Given the description of an element on the screen output the (x, y) to click on. 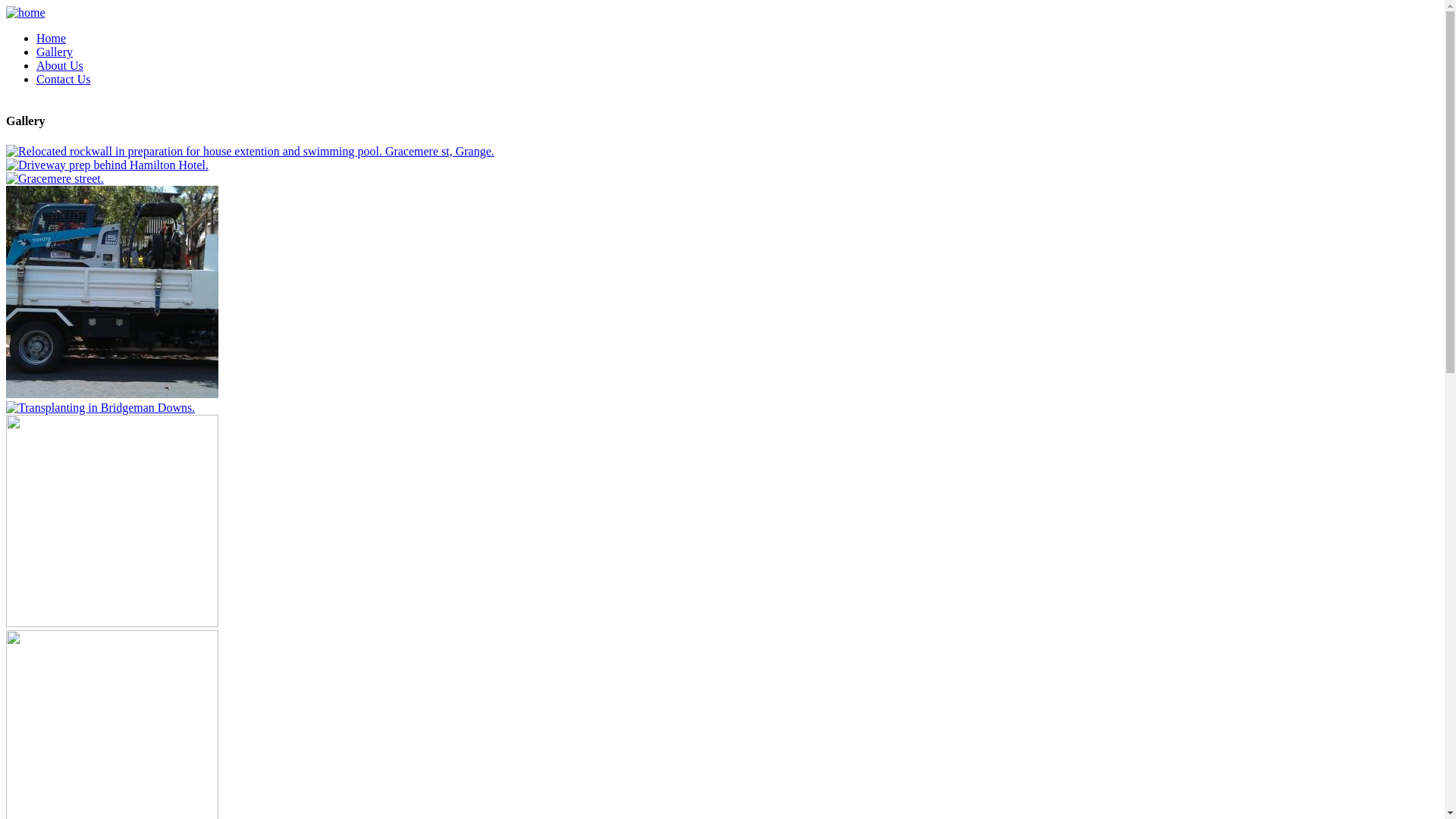
home Element type: hover (25, 12)
About Us Element type: text (59, 65)
Gallery Element type: text (54, 51)
Driveway prep behind Hamilton Hotel. Element type: hover (107, 164)
Home Element type: text (50, 37)
Gallery Element type: hover (112, 622)
Gracemere street. Element type: hover (54, 178)
Contact Us Element type: text (63, 78)
Gallery Element type: hover (112, 393)
Transplanting in Bridgeman Downs. Element type: hover (100, 407)
